Given the description of an element on the screen output the (x, y) to click on. 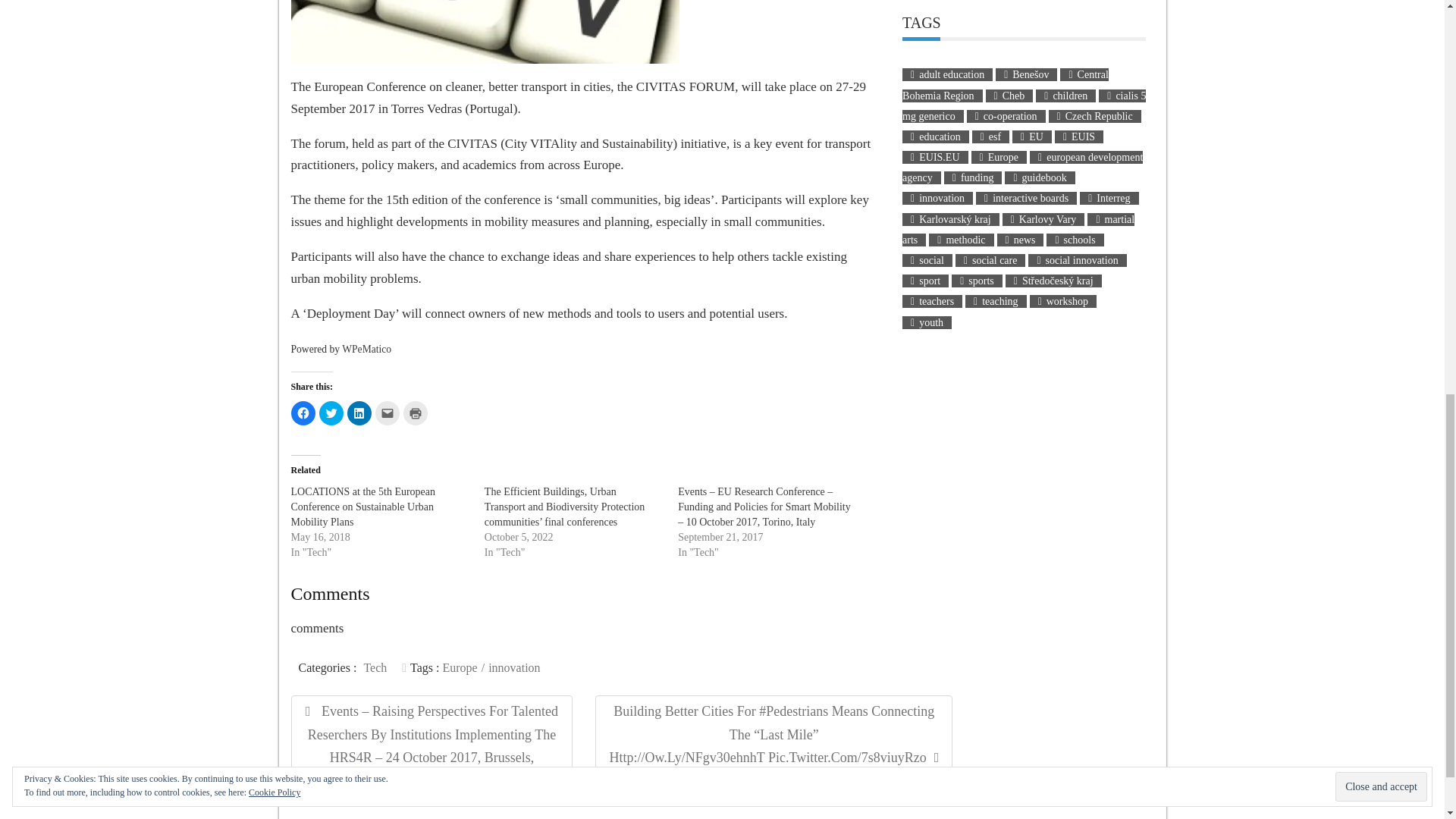
Click to print (415, 413)
Click to share on Facebook (303, 413)
WPeMatico (366, 348)
Click to share on LinkedIn (359, 413)
Click to share on Twitter (330, 413)
Click to email a link to a friend (386, 413)
